Given the description of an element on the screen output the (x, y) to click on. 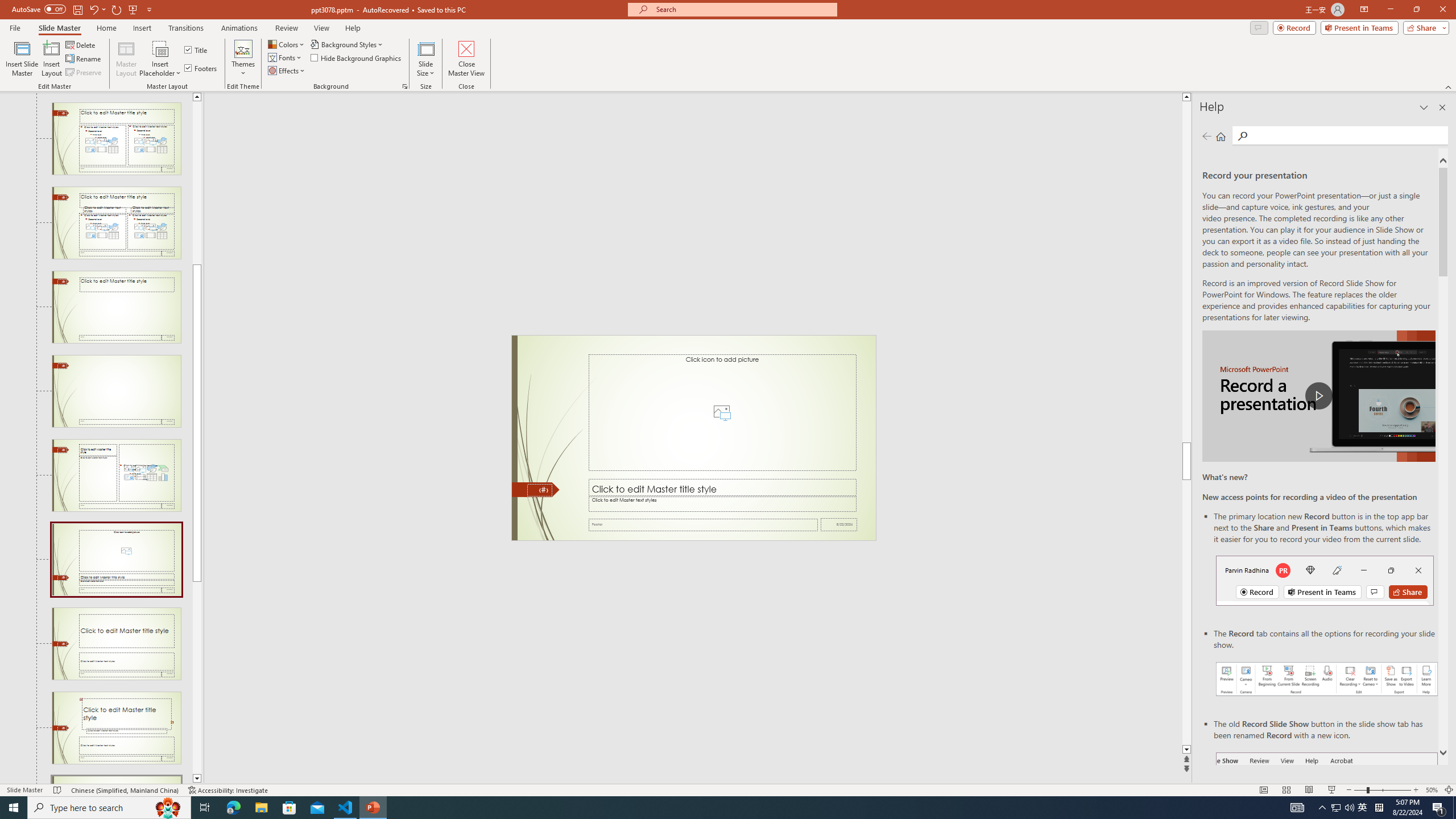
Slide Number (539, 490)
TextBox (722, 503)
Insert Slide Master (21, 58)
Preserve (84, 72)
Footers (201, 67)
Close pane (1441, 107)
Line up (197, 96)
Slide Content with Caption Layout: used by no slides (116, 475)
Slide Blank Layout: used by no slides (116, 391)
